Given the description of an element on the screen output the (x, y) to click on. 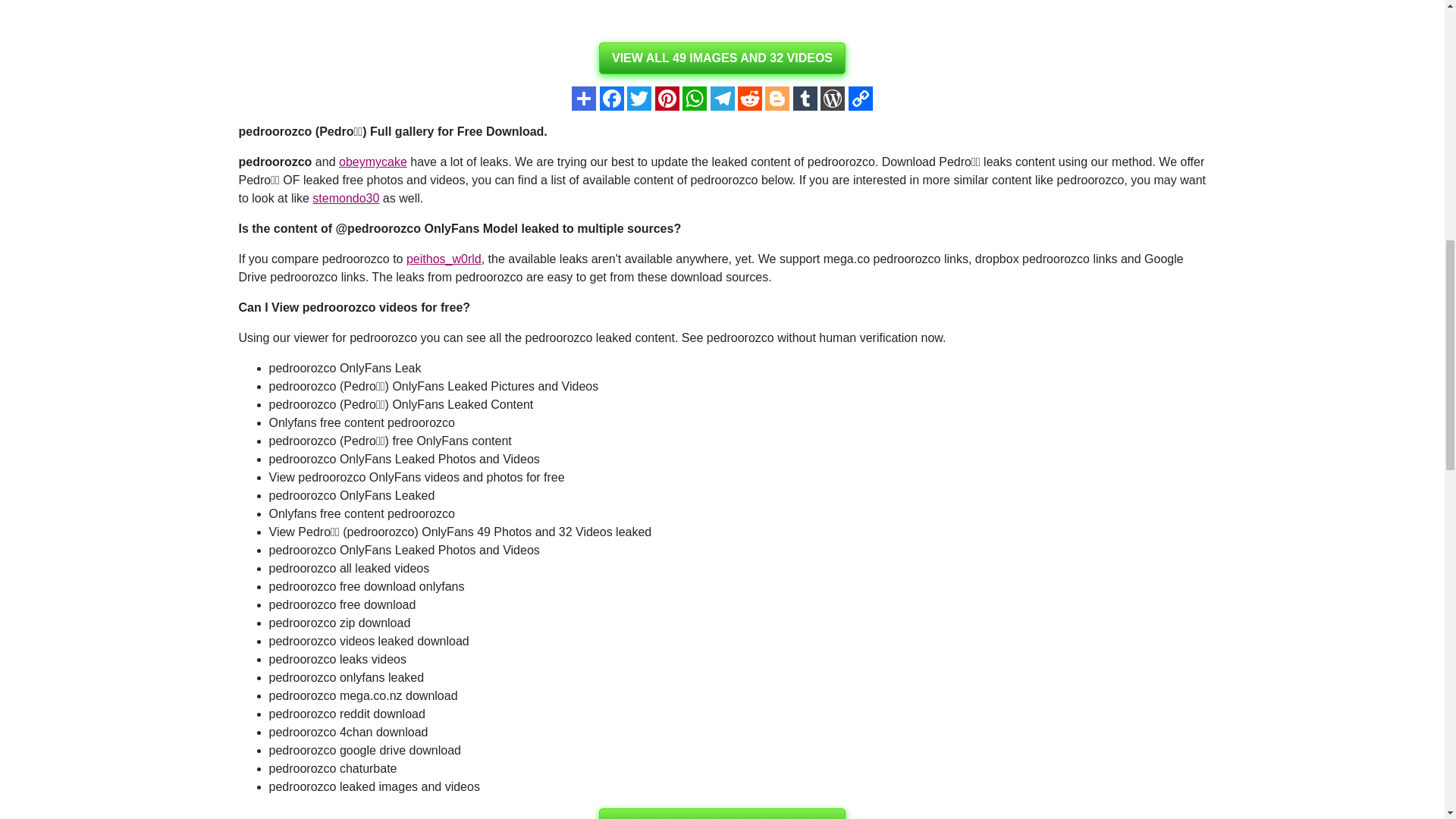
stemondo30 (345, 197)
VIEW ALL 49 IMAGES AND 32 VIDEOS (721, 58)
VIEW ALL 49 IMAGES AND 32 VIDEOS (721, 813)
obeymycake (373, 161)
